Given the description of an element on the screen output the (x, y) to click on. 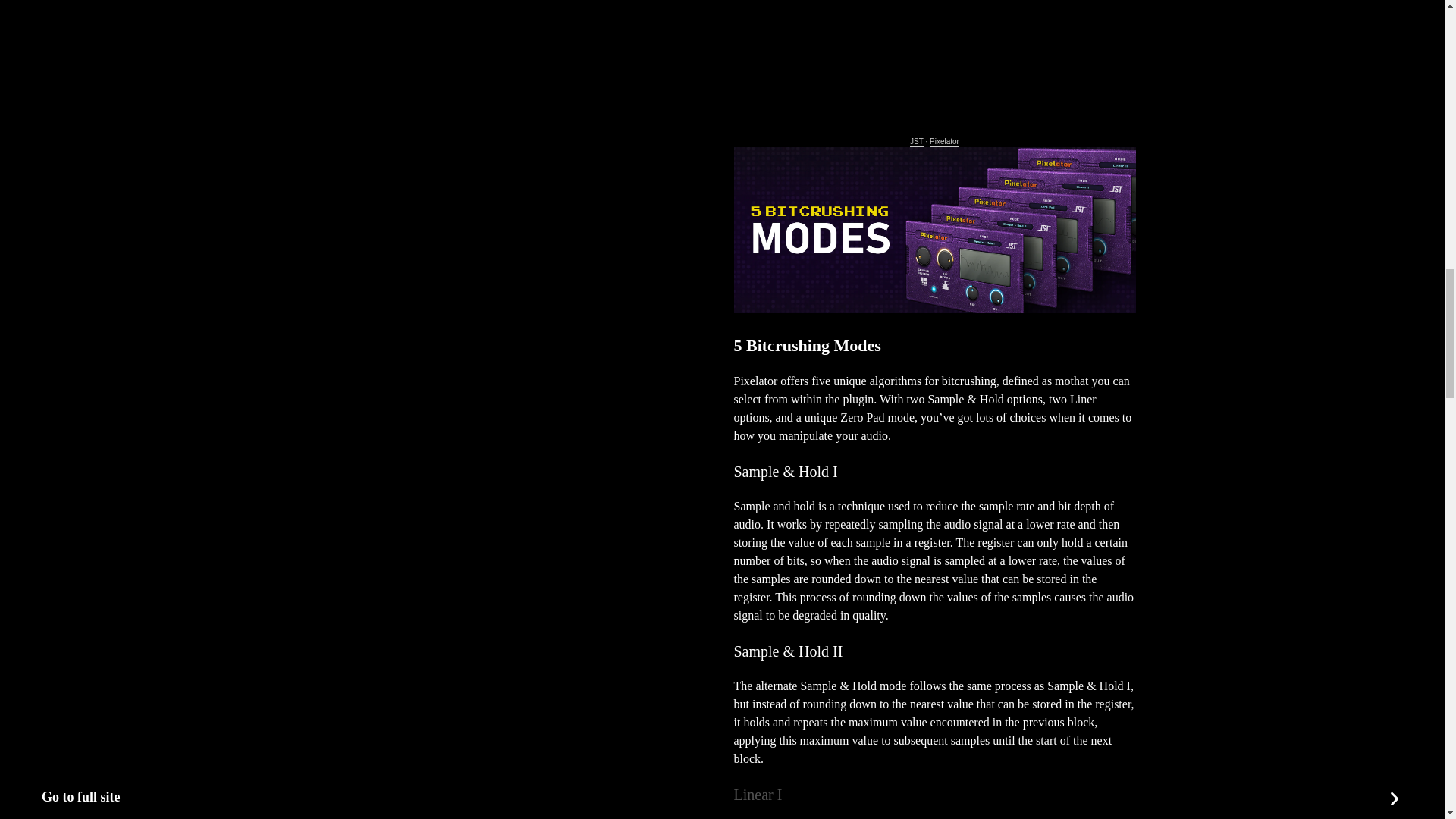
JST (916, 142)
Pixelator (944, 142)
